Given the description of an element on the screen output the (x, y) to click on. 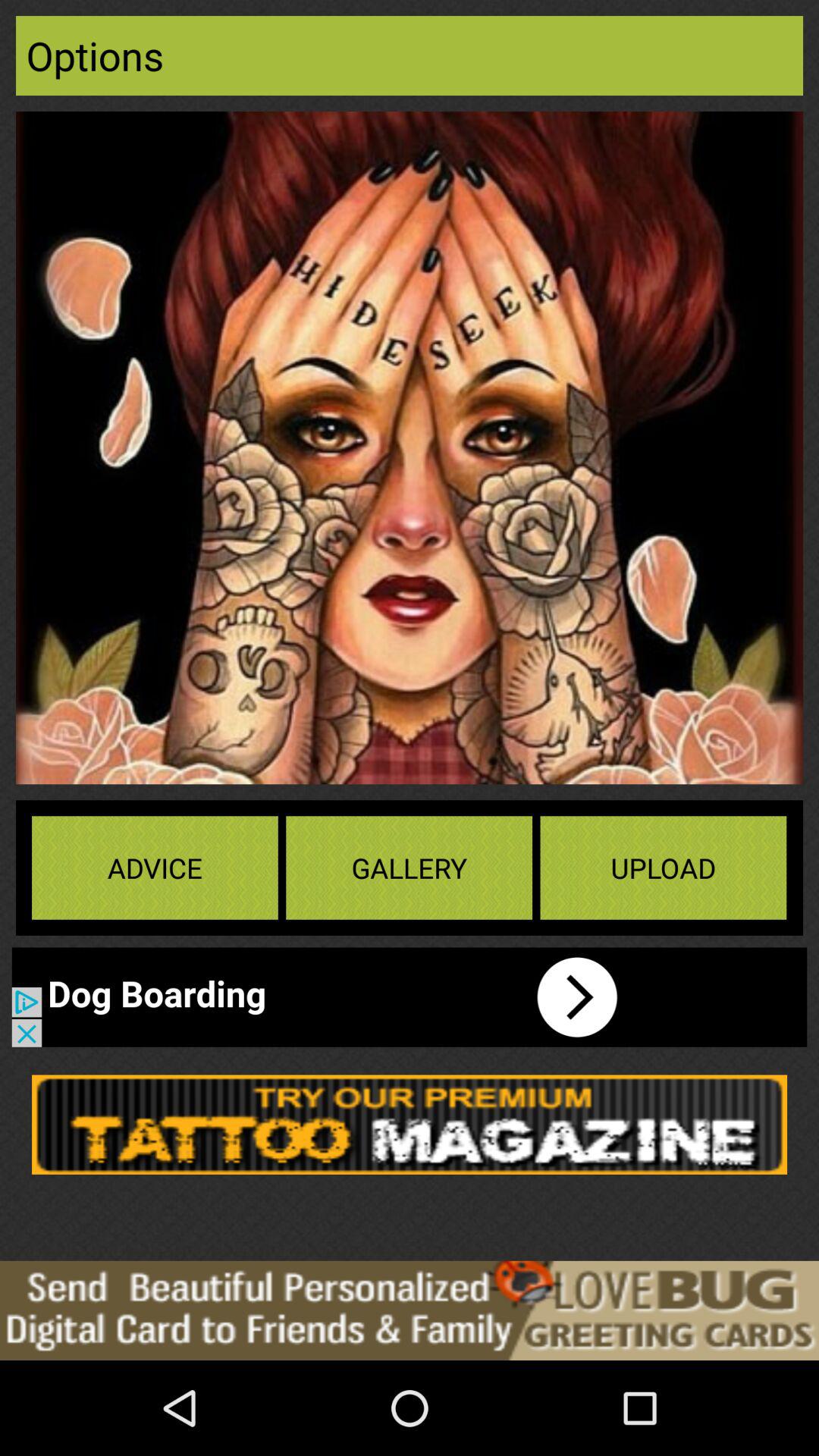
advertising (409, 1124)
